Given the description of an element on the screen output the (x, y) to click on. 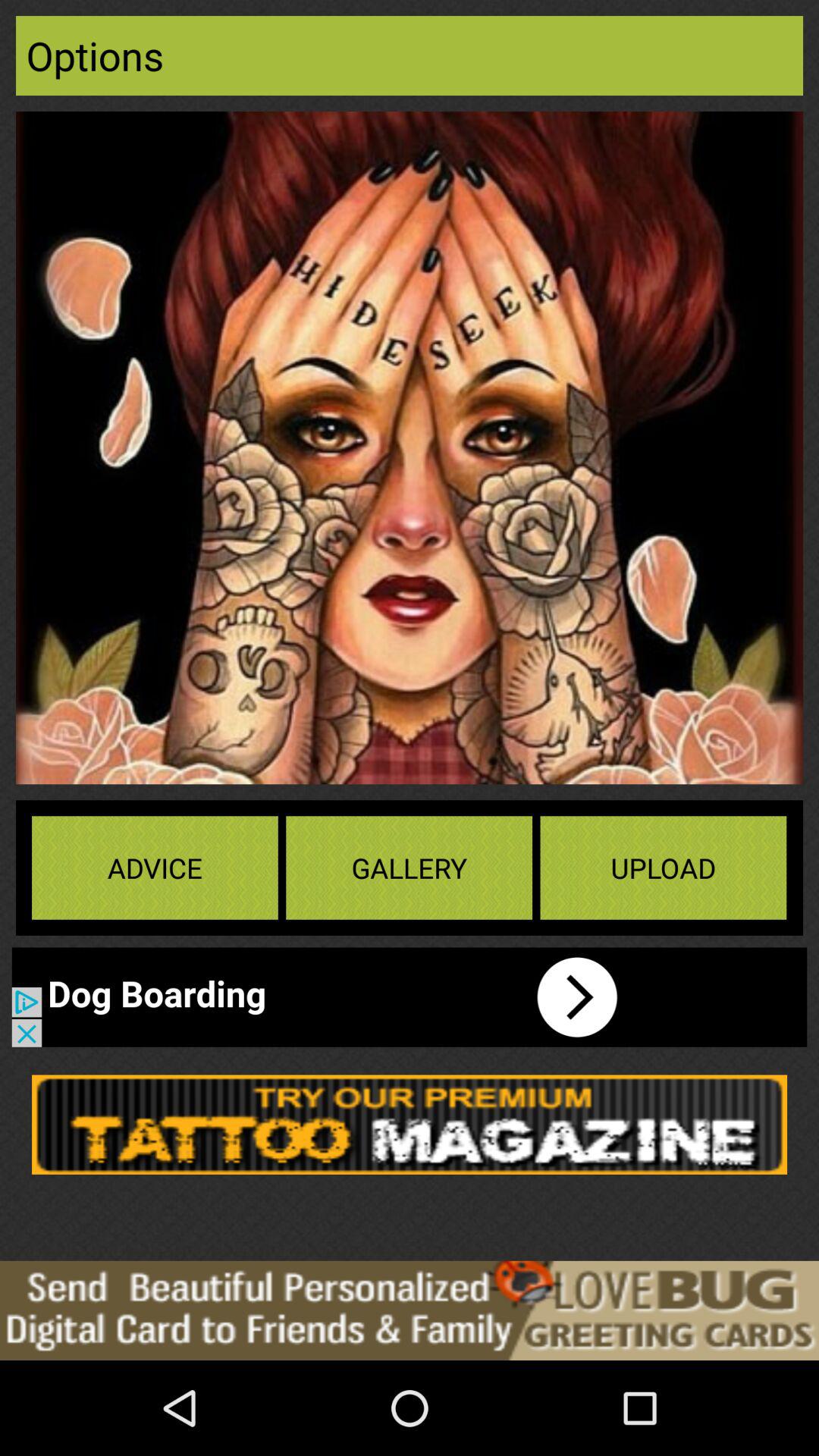
advertising (409, 1124)
